Given the description of an element on the screen output the (x, y) to click on. 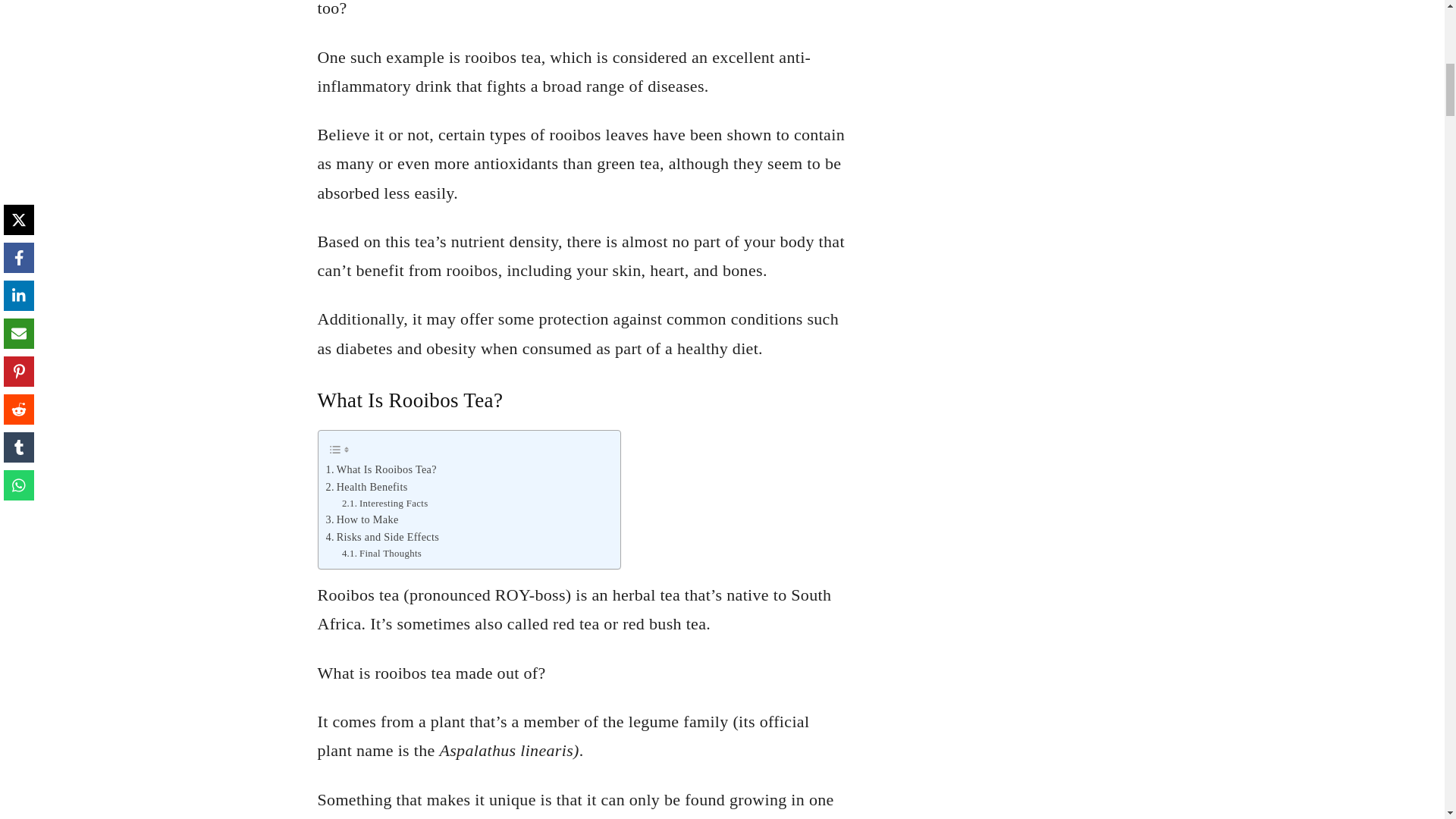
Health Benefits (366, 487)
Final Thoughts (382, 553)
How to Make (362, 519)
Health Benefits (366, 487)
What Is Rooibos Tea? (381, 469)
Interesting Facts (385, 503)
Risks and Side Effects (382, 537)
What Is Rooibos Tea? (381, 469)
